Given the description of an element on the screen output the (x, y) to click on. 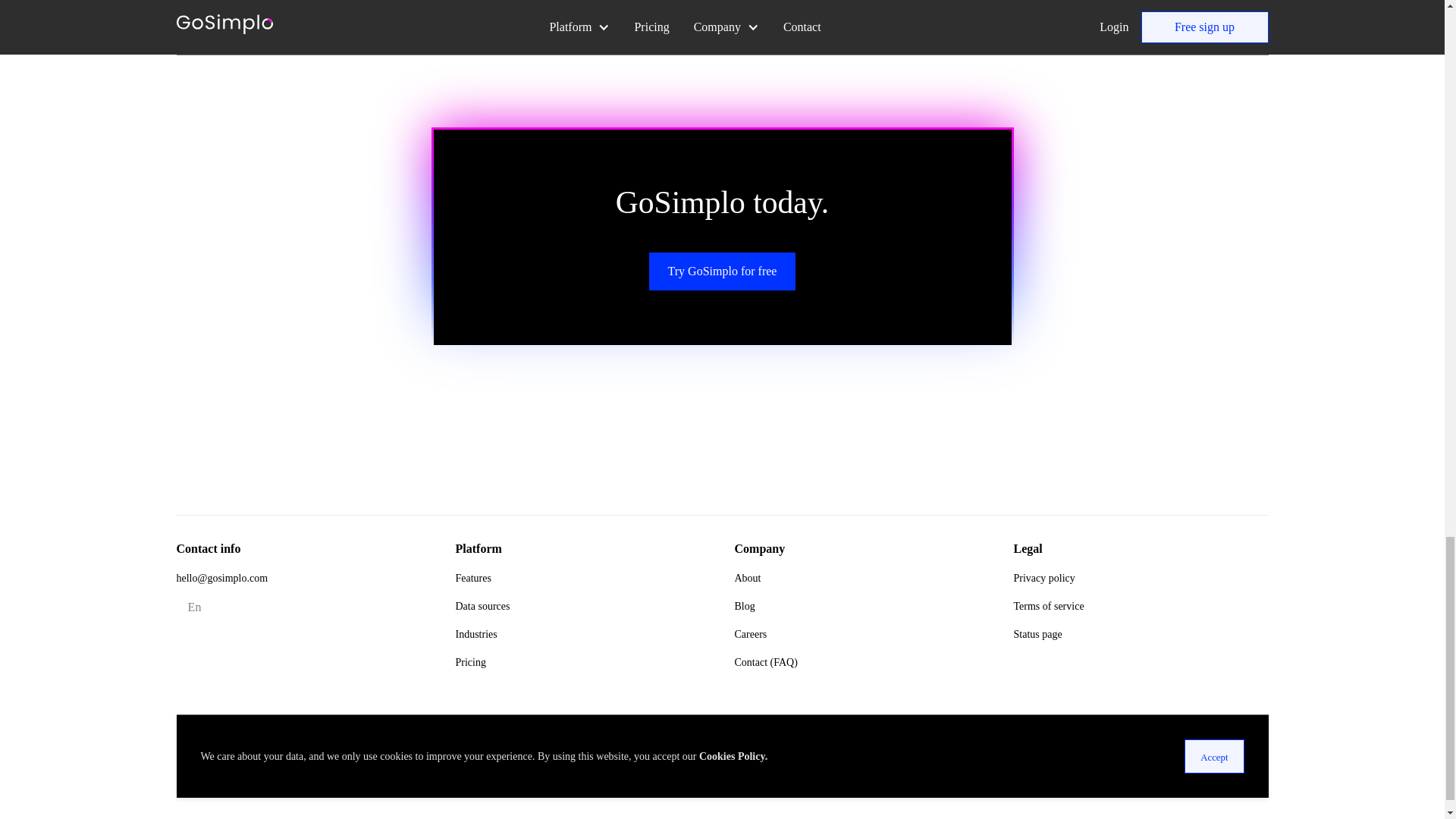
Try GoSimplo for free (722, 271)
Privacy policy (1043, 578)
Terms of service (1048, 605)
Industries (475, 633)
Pricing (469, 662)
Features (472, 578)
About (746, 578)
Careers (750, 633)
Data sources (481, 605)
